Given the description of an element on the screen output the (x, y) to click on. 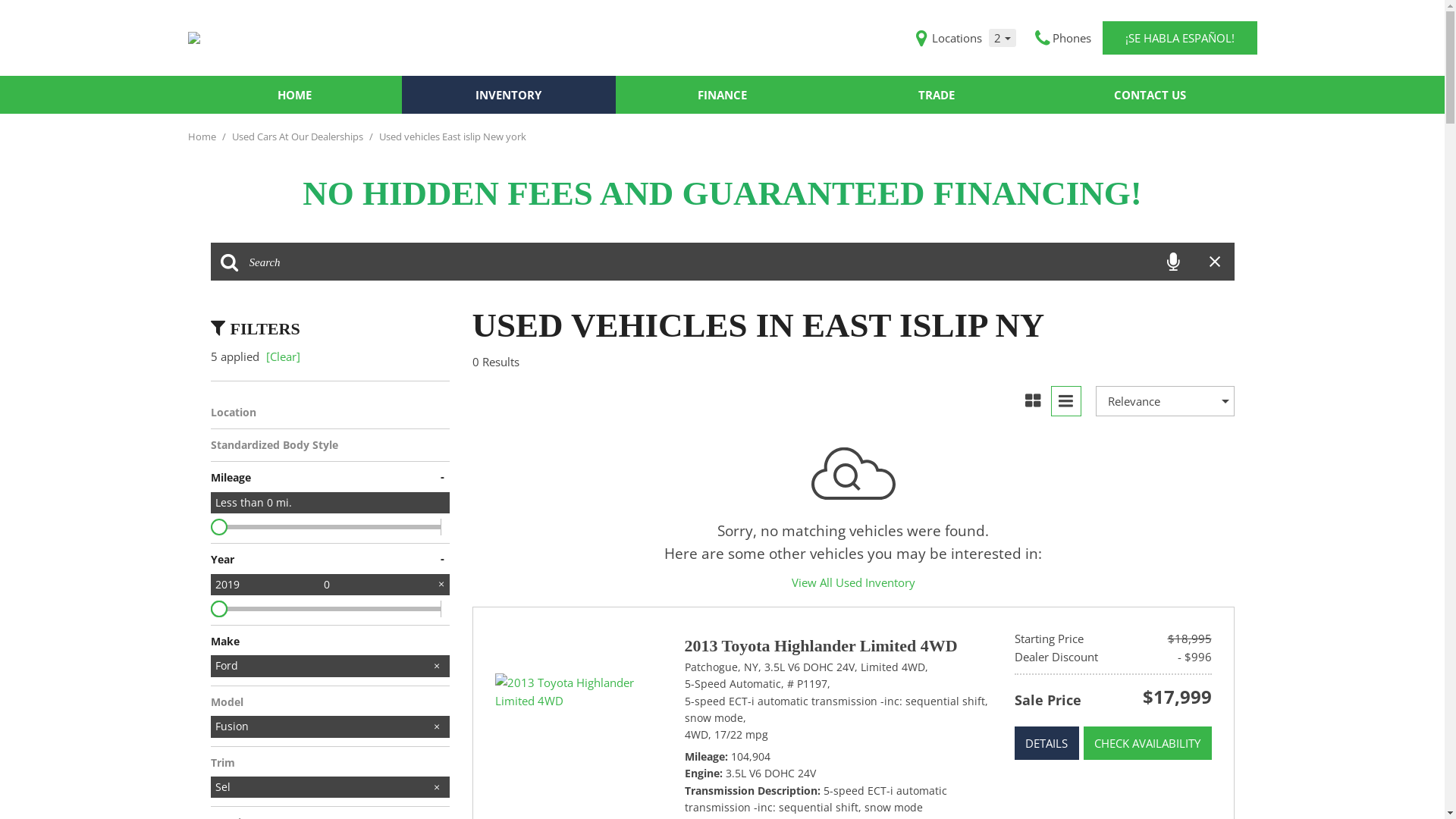
View All Used Inventory Element type: text (853, 581)
Locations 2 Element type: text (966, 37)
Trim Element type: text (329, 762)
Year
- Element type: text (329, 559)
Home Element type: text (203, 136)
CHECK AVAILABILITY Element type: text (1146, 742)
[Clear] Element type: text (282, 356)
Make Element type: text (329, 641)
DETAILS Element type: text (1046, 742)
INVENTORY Element type: text (508, 94)
TRADE Element type: text (936, 94)
Model Element type: text (329, 701)
Used Cars At Our Dealerships Element type: text (298, 136)
CONTACT US Element type: text (1150, 94)
HOME Element type: text (294, 94)
Standardized Body Style Element type: text (329, 444)
Mileage
- Element type: text (329, 477)
Phones Element type: text (1062, 37)
FINANCE Element type: text (722, 94)
2013 Toyota Highlander Limited 4WD Element type: hover (577, 691)
Location Element type: text (329, 412)
1800AutoApproved Element type: hover (194, 37)
